Given the description of an element on the screen output the (x, y) to click on. 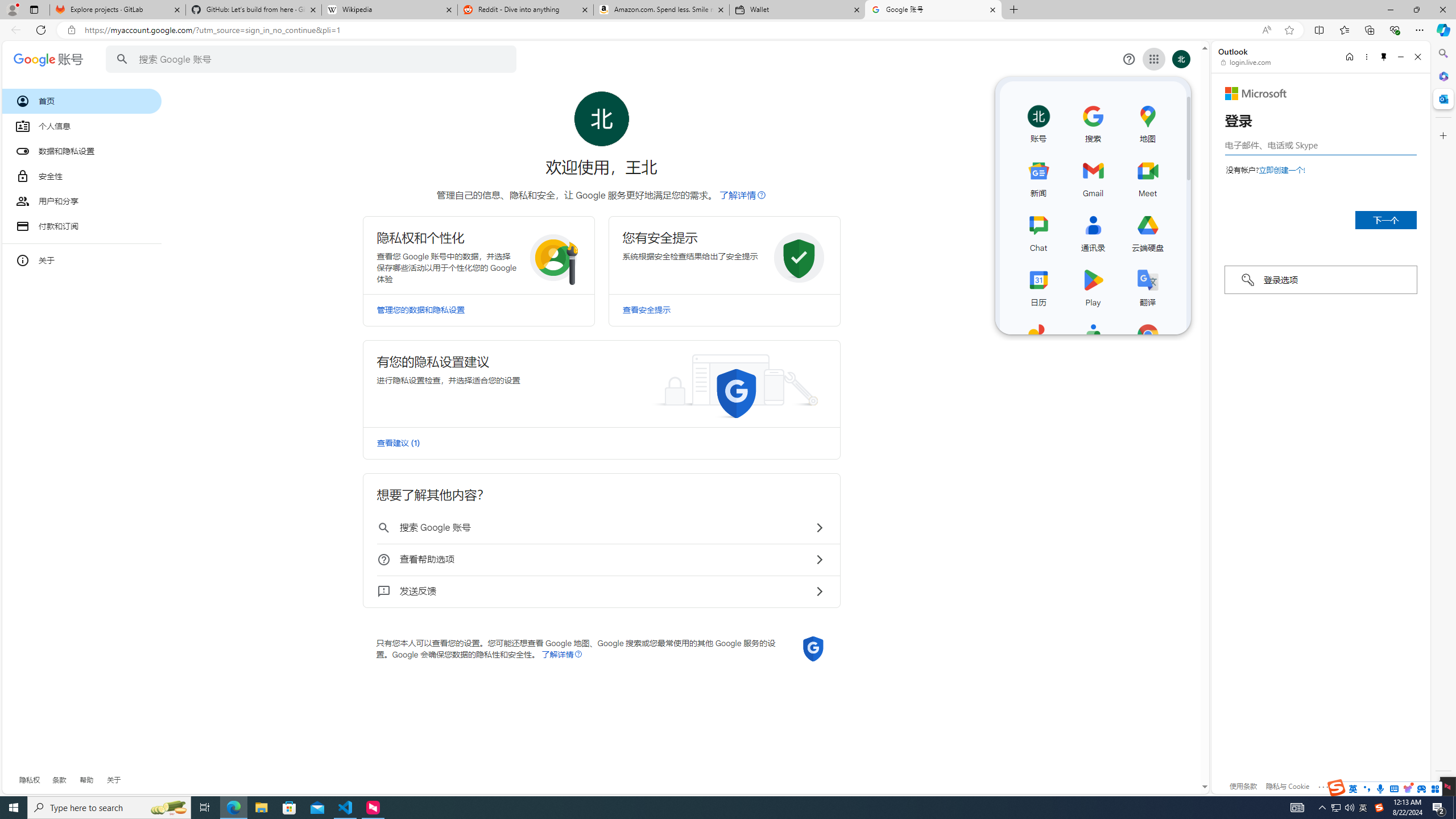
Class: gb_E (1153, 59)
login.live.com (1246, 61)
Amazon.com. Spend less. Smile more. (660, 9)
